Given the description of an element on the screen output the (x, y) to click on. 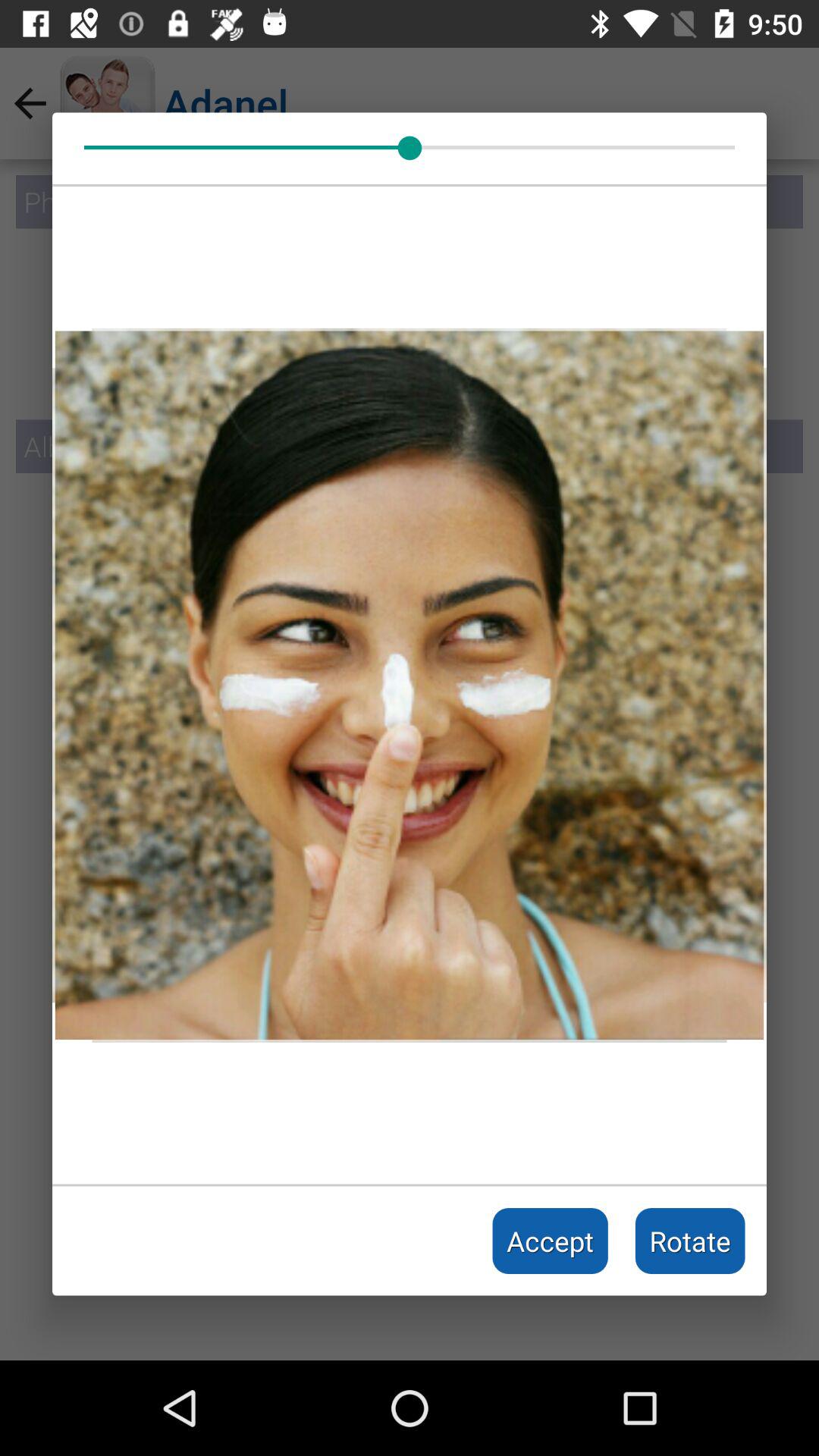
flip to the accept (549, 1240)
